Given the description of an element on the screen output the (x, y) to click on. 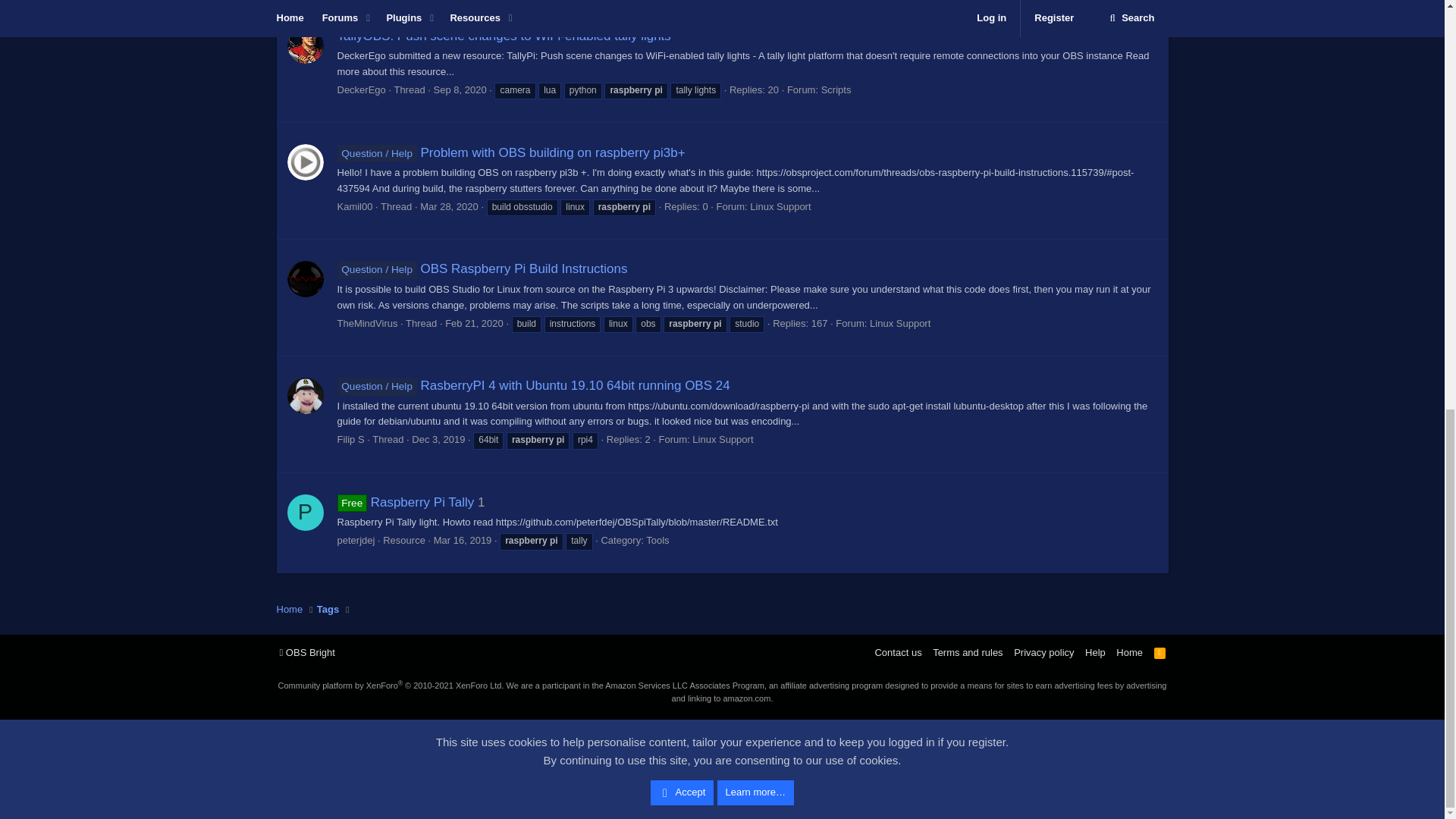
Mar 16, 2019 at 7:07 PM (462, 540)
Dec 3, 2019 at 1:12 AM (438, 439)
Sep 8, 2020 at 10:48 PM (459, 89)
RSS (1160, 652)
Feb 21, 2020 at 1:11 AM (474, 323)
Mar 28, 2020 at 6:35 PM (449, 206)
